Given the description of an element on the screen output the (x, y) to click on. 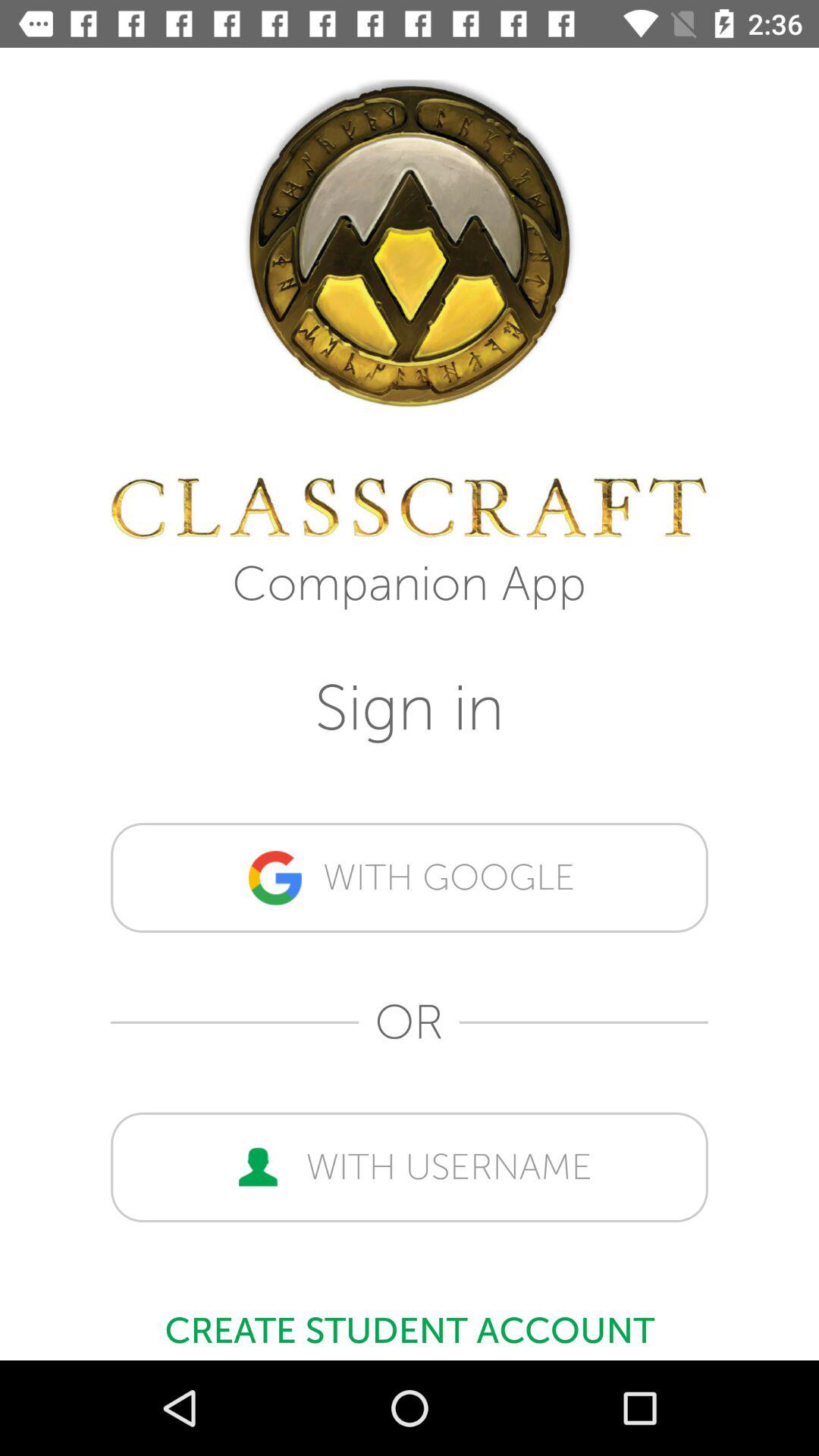
scroll until create student account (409, 1322)
